Given the description of an element on the screen output the (x, y) to click on. 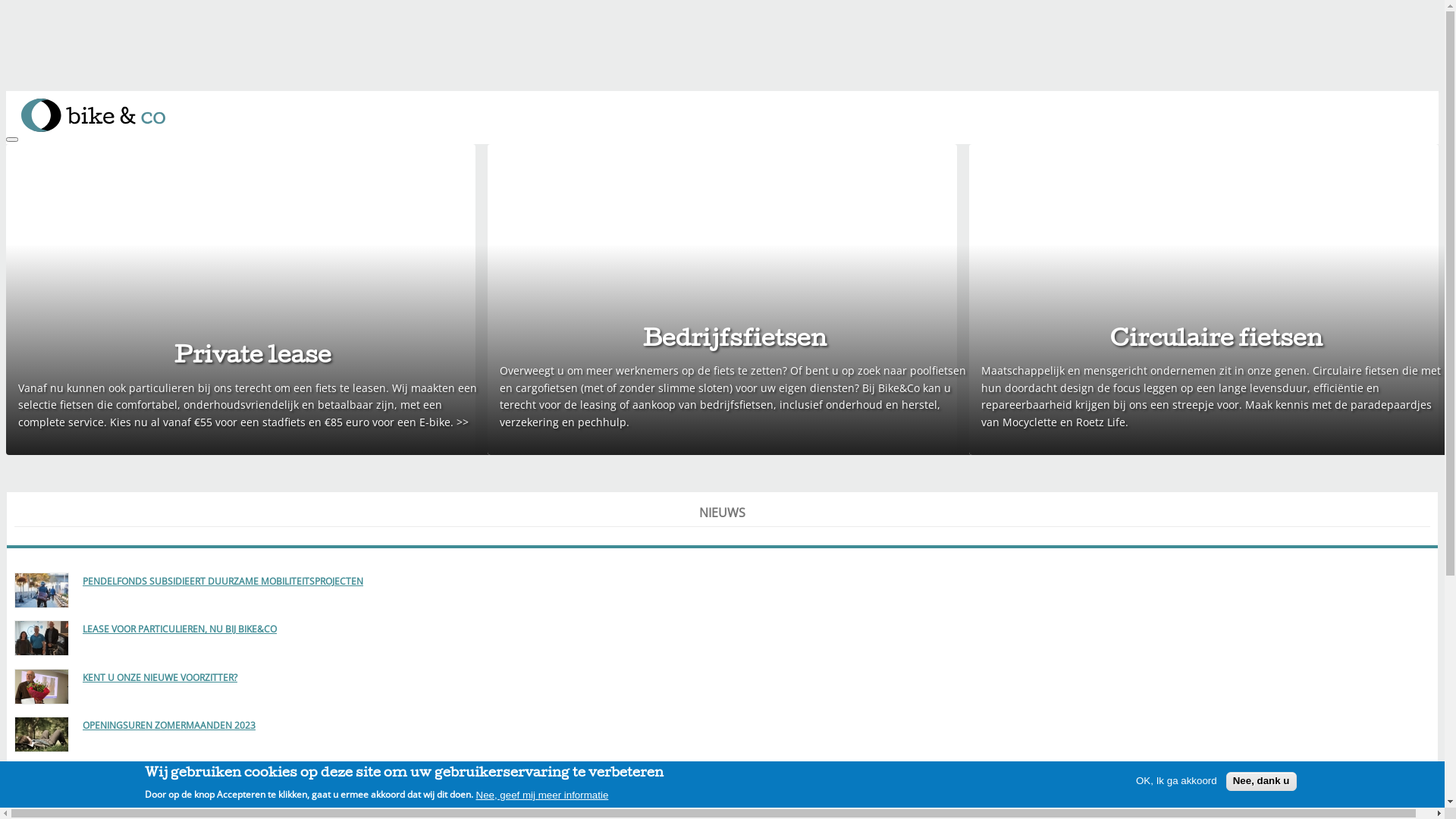
OPENINGSUREN ZOMERMAANDEN 2023 Element type: text (168, 721)
Onze Fietsen Element type: text (69, 179)
Nee, dank u Element type: text (1261, 780)
Diensten Element type: text (58, 196)
Nee, geef mij meer informatie Element type: text (542, 794)
LEASE VOOR PARTICULIEREN, NU BIJ BIKE&CO Element type: text (179, 625)
KENT U ONZE NIEUWE VOORZITTER? Element type: text (159, 673)
PENDELFONDS SUBSIDIEERT DUURZAME MOBILITEITSPROJECTEN Element type: text (222, 577)
Home Element type: text (50, 163)
Links Element type: text (49, 275)
Over Ons Element type: text (60, 308)
Overslaan en naar de inhoud gaan Element type: text (94, 91)
Contact Element type: text (55, 258)
Toggle navigation Element type: text (12, 139)
Nieuws Element type: text (55, 292)
Onze Klanten Element type: text (70, 230)
OK, Ik ga akkoord Element type: text (1176, 780)
Voordelen Element type: text (61, 213)
